Given the description of an element on the screen output the (x, y) to click on. 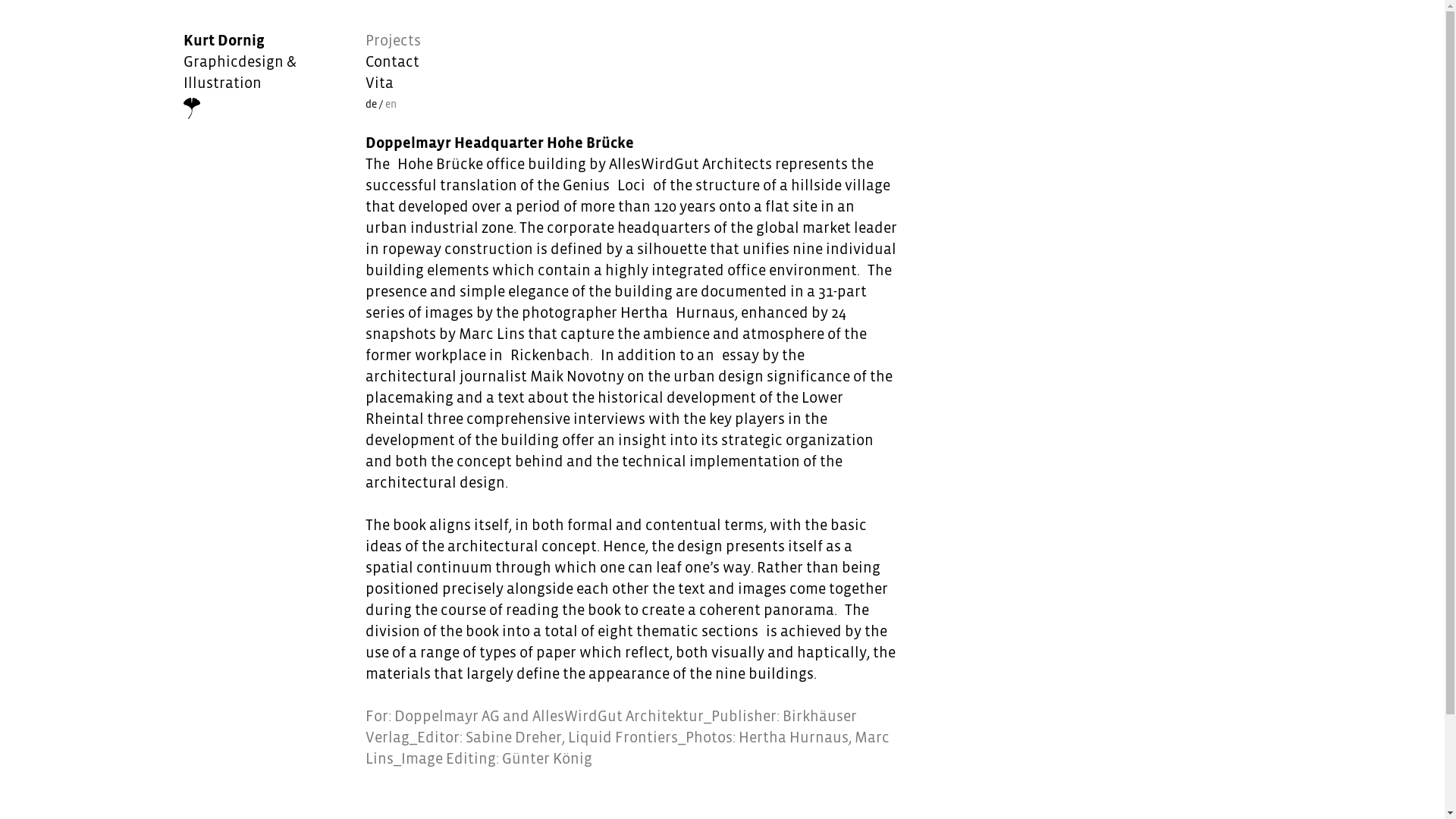
de Element type: text (370, 103)
Contact Element type: text (392, 61)
Vita Element type: text (392, 83)
en Element type: text (390, 103)
Projects Element type: text (392, 40)
Kurt Dornig
Graphicdesign &
Illustration Element type: text (267, 74)
